Given the description of an element on the screen output the (x, y) to click on. 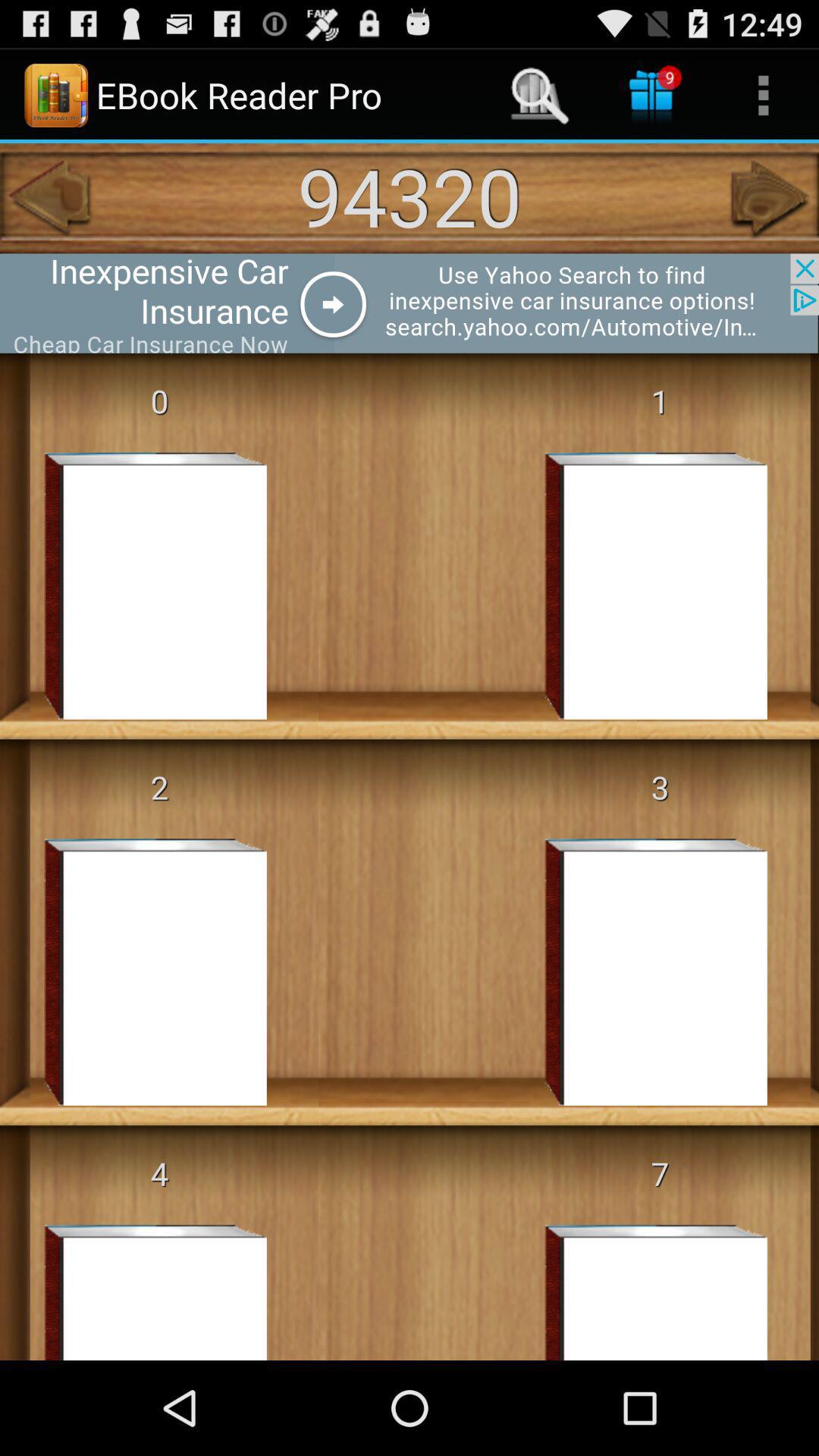
flip until the 94320 app (409, 196)
